Given the description of an element on the screen output the (x, y) to click on. 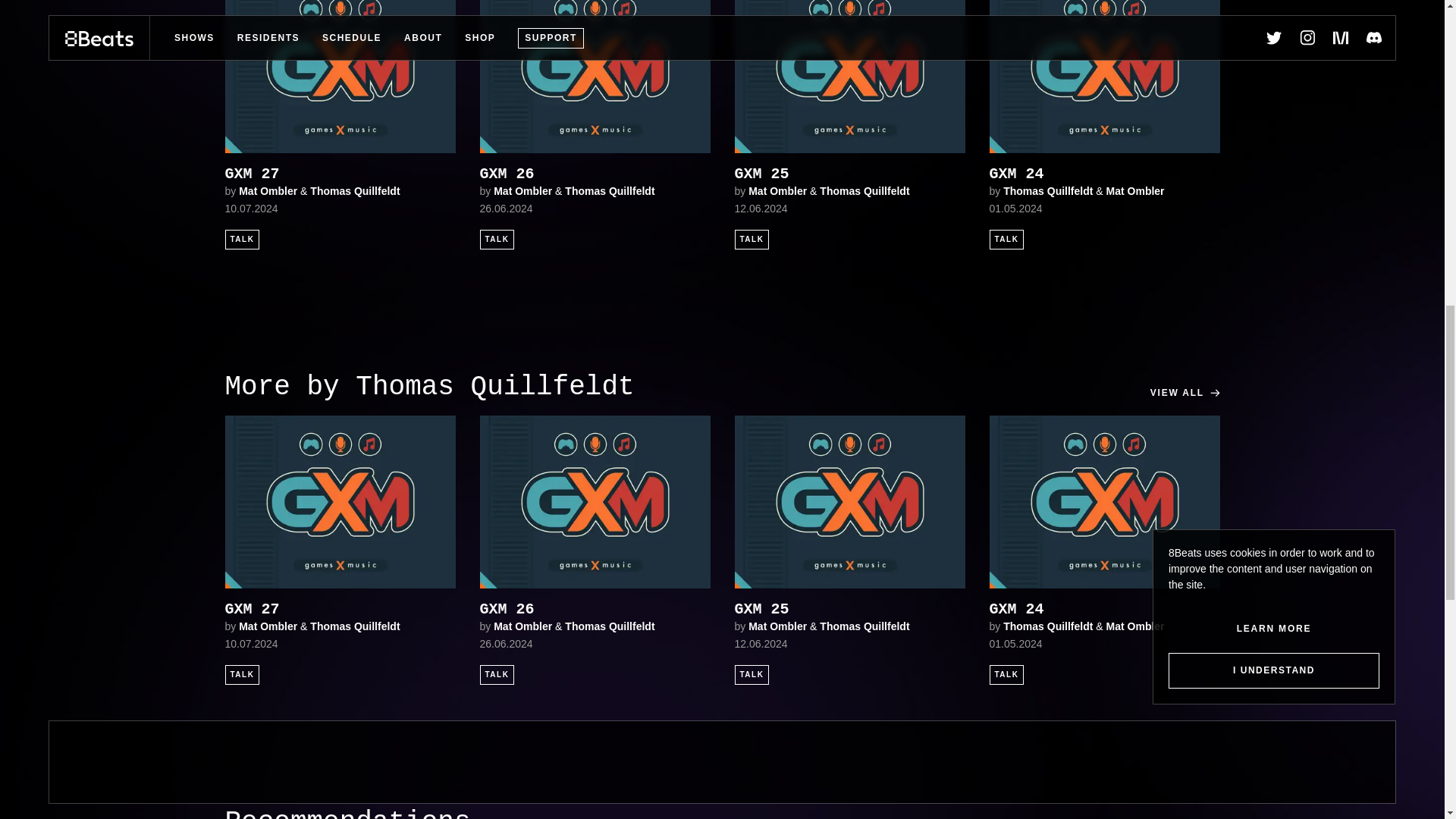
GXM 26 (594, 174)
Mat Ombler (267, 191)
Thomas Quillfeldt (608, 191)
Thomas Quillfeldt (354, 191)
GXM 27 (339, 174)
TALK (241, 239)
Mat Ombler (522, 191)
